Given the description of an element on the screen output the (x, y) to click on. 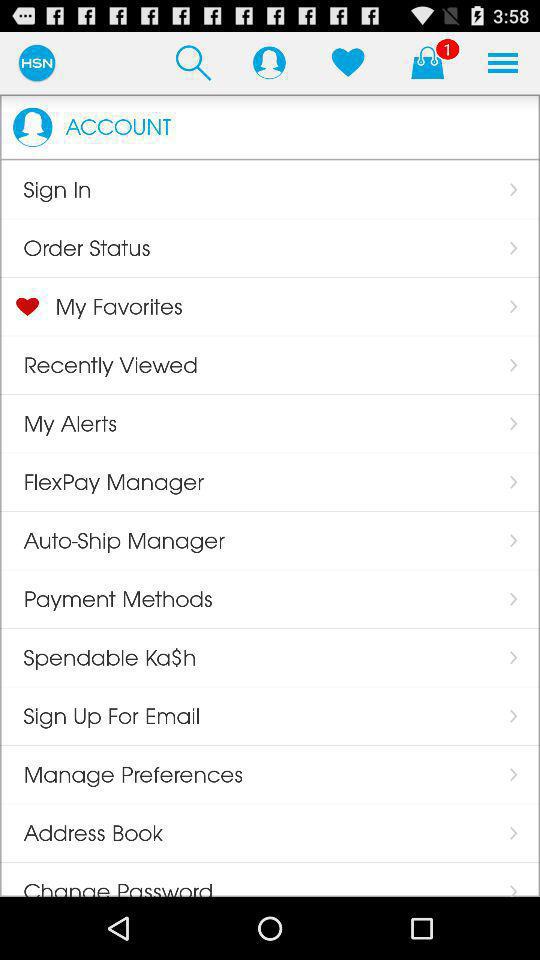
liked items (348, 62)
